Given the description of an element on the screen output the (x, y) to click on. 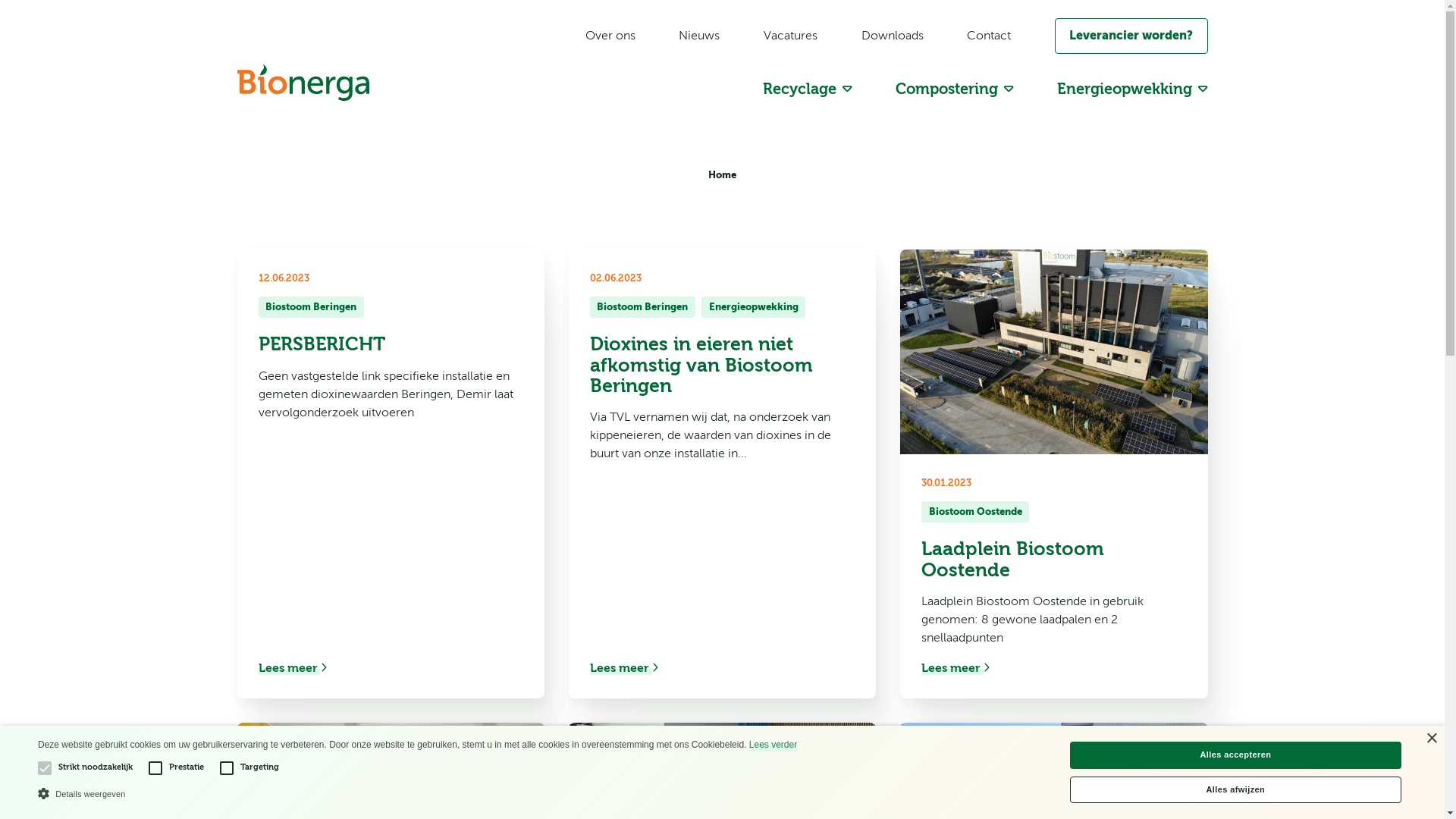
Lees meer Element type: text (955, 667)
Leverancier worden? Element type: text (1131, 35)
Biostoom Beringen Element type: text (642, 306)
Energieopwekking Element type: text (1132, 88)
Nieuws Element type: text (698, 35)
PERSBERICHT Element type: text (389, 343)
Energieopwekking Element type: text (753, 306)
Home Element type: text (722, 174)
Vacatures Element type: text (790, 35)
Downloads Element type: text (892, 35)
Dioxines in eieren niet afkomstig van Biostoom Beringen Element type: text (721, 364)
Laadplein Biostoom Oostende Element type: text (1053, 559)
Over ons Element type: text (610, 35)
Compostering Element type: text (954, 88)
Biostoom Oostende Element type: text (975, 511)
Lees meer Element type: text (291, 667)
Lees verder Element type: text (773, 744)
Contact Element type: text (988, 35)
Biostoom Beringen Element type: text (310, 306)
Recyclage Element type: text (807, 88)
Lees meer Element type: text (623, 667)
